Given the description of an element on the screen output the (x, y) to click on. 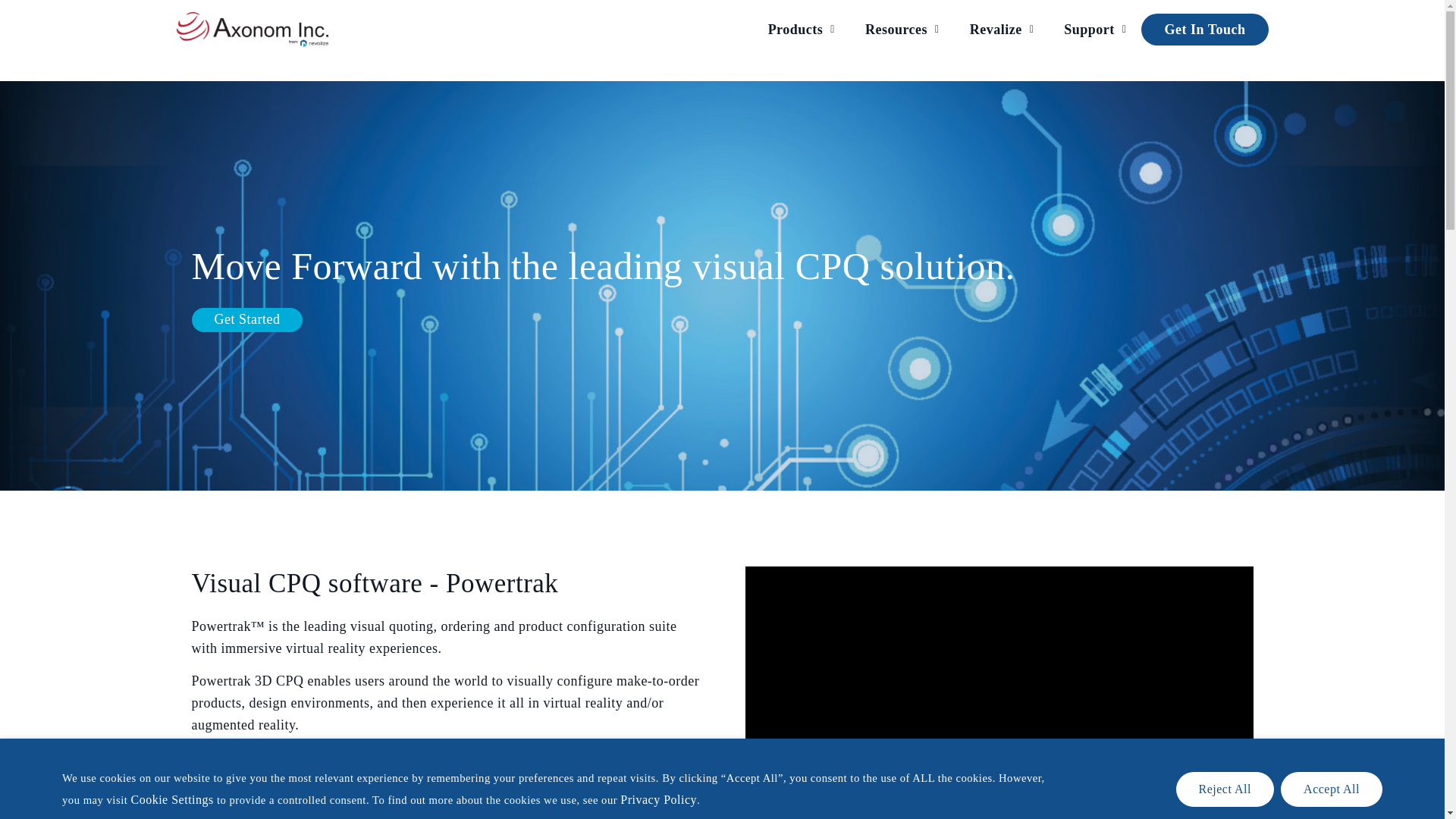
vimeo Video Player (998, 674)
Resources (902, 29)
Products (801, 29)
Support (1094, 29)
Revalize (1002, 29)
Get In Touch (1204, 29)
